Given the description of an element on the screen output the (x, y) to click on. 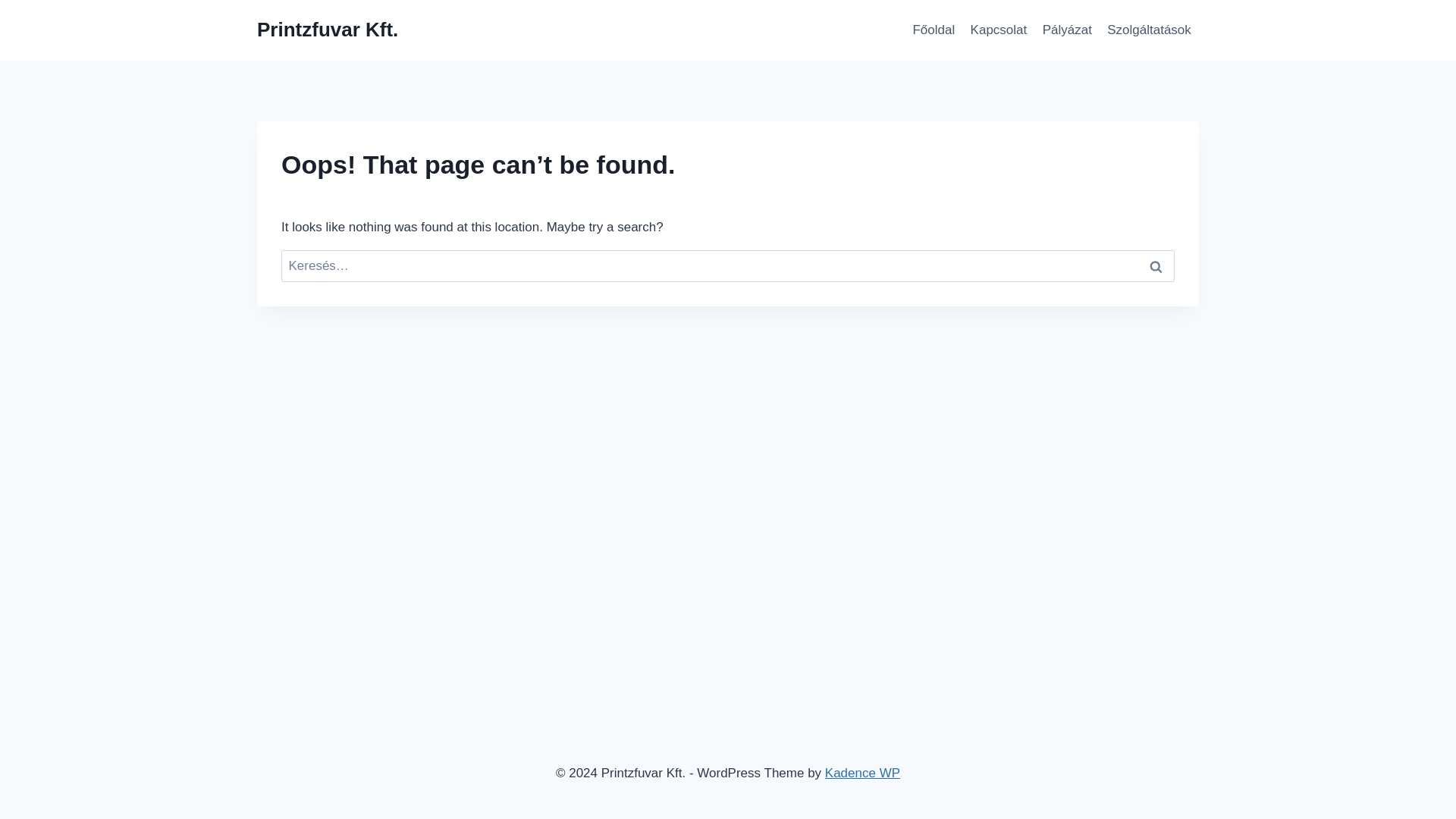
Kapcsolat (997, 30)
Printzfuvar Kft. (327, 29)
Kadence WP (862, 772)
